Given the description of an element on the screen output the (x, y) to click on. 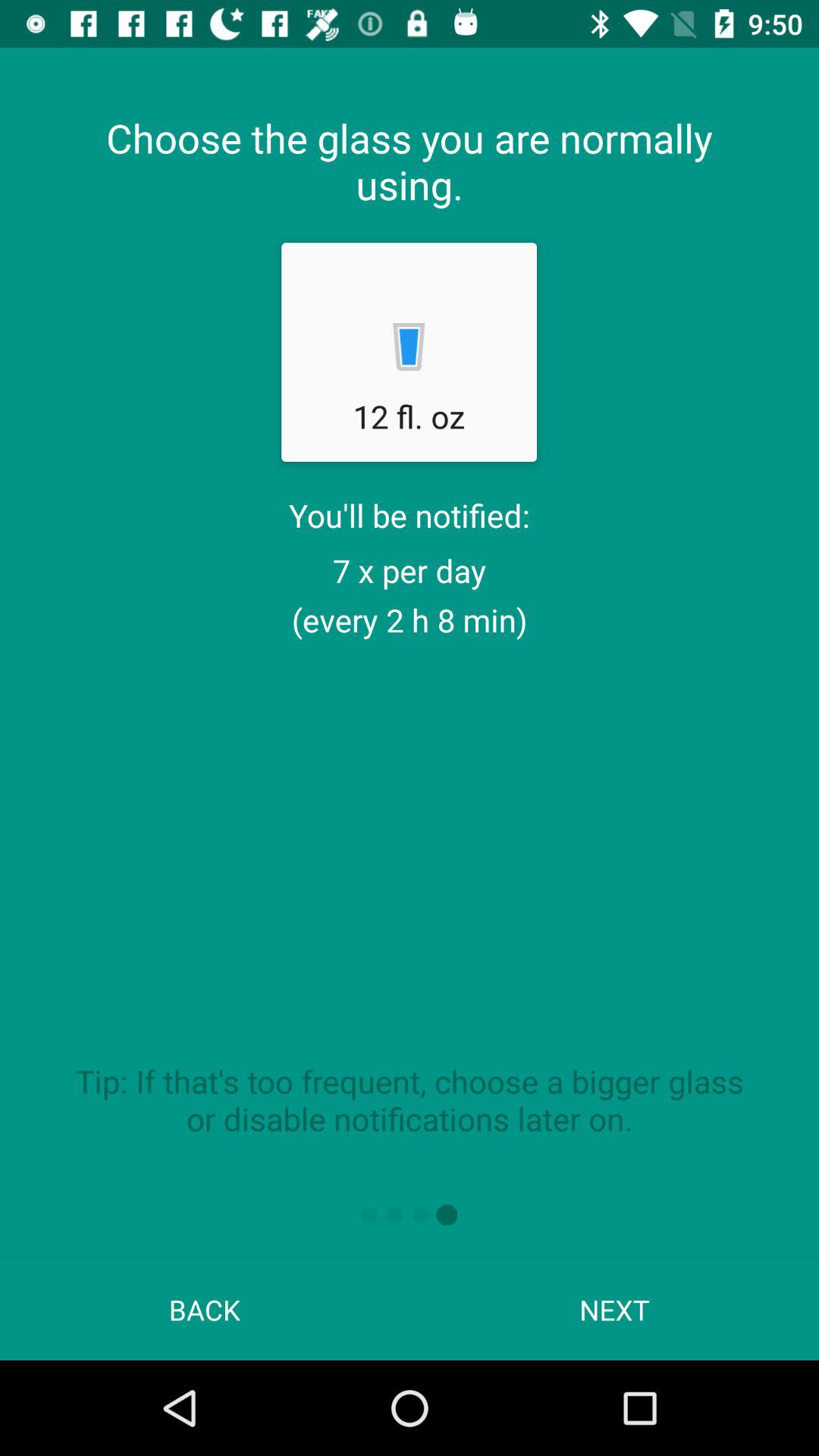
flip to next item (614, 1309)
